Given the description of an element on the screen output the (x, y) to click on. 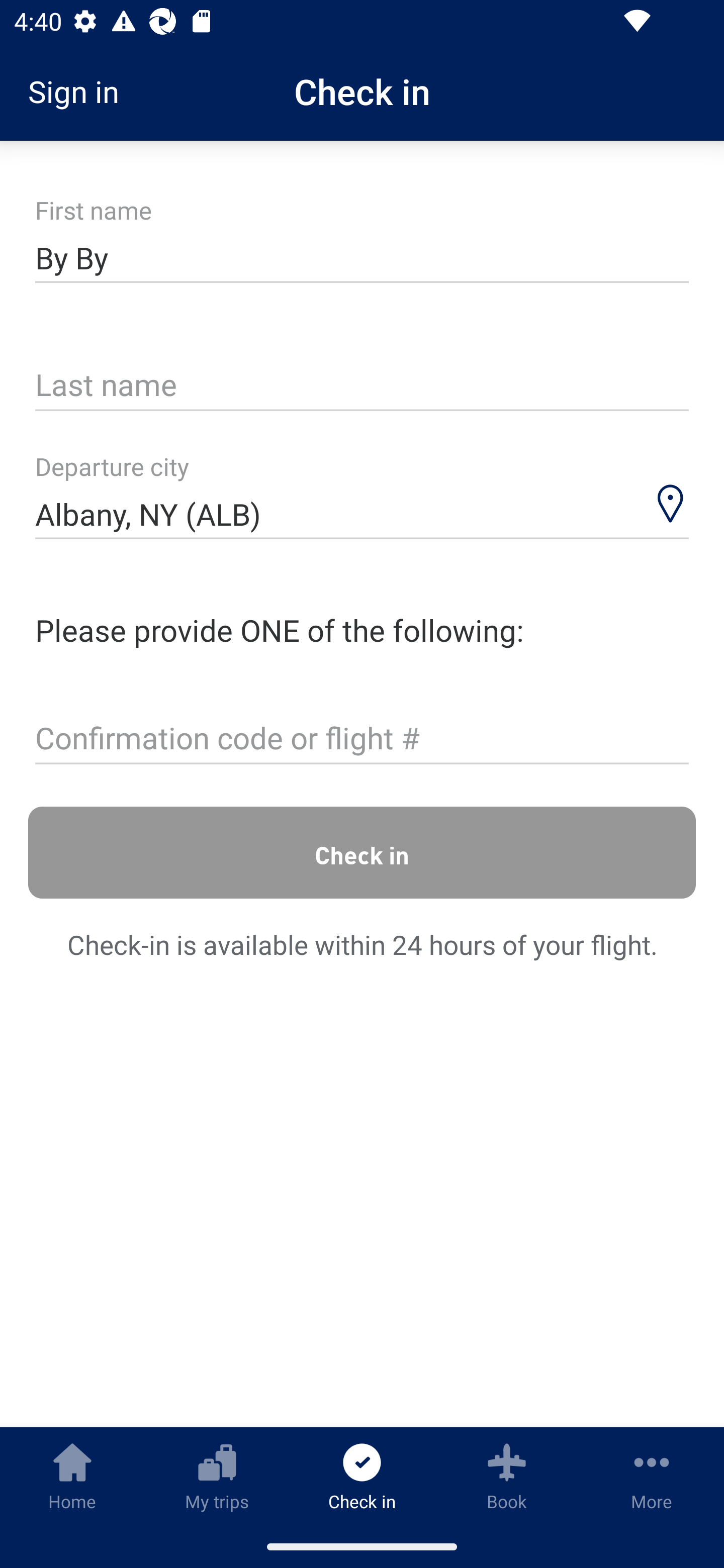
Sign in (80, 91)
By By First name (361, 257)
Last name (361, 386)
Departure city (361, 496)
Check in (361, 851)
Home (72, 1475)
My trips (216, 1475)
Book (506, 1475)
More (651, 1475)
